Given the description of an element on the screen output the (x, y) to click on. 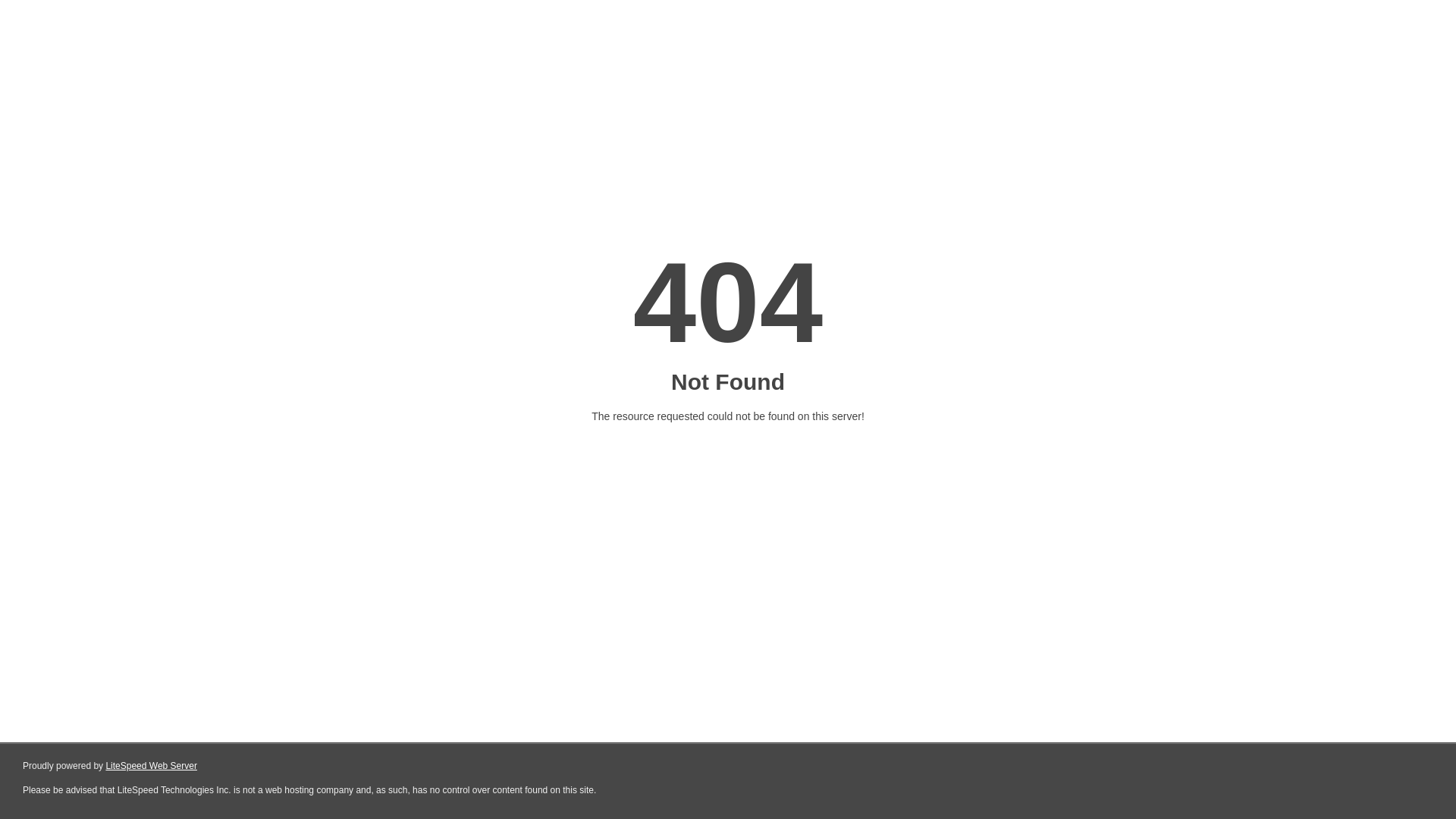
LiteSpeed Web Server Element type: text (151, 765)
